Given the description of an element on the screen output the (x, y) to click on. 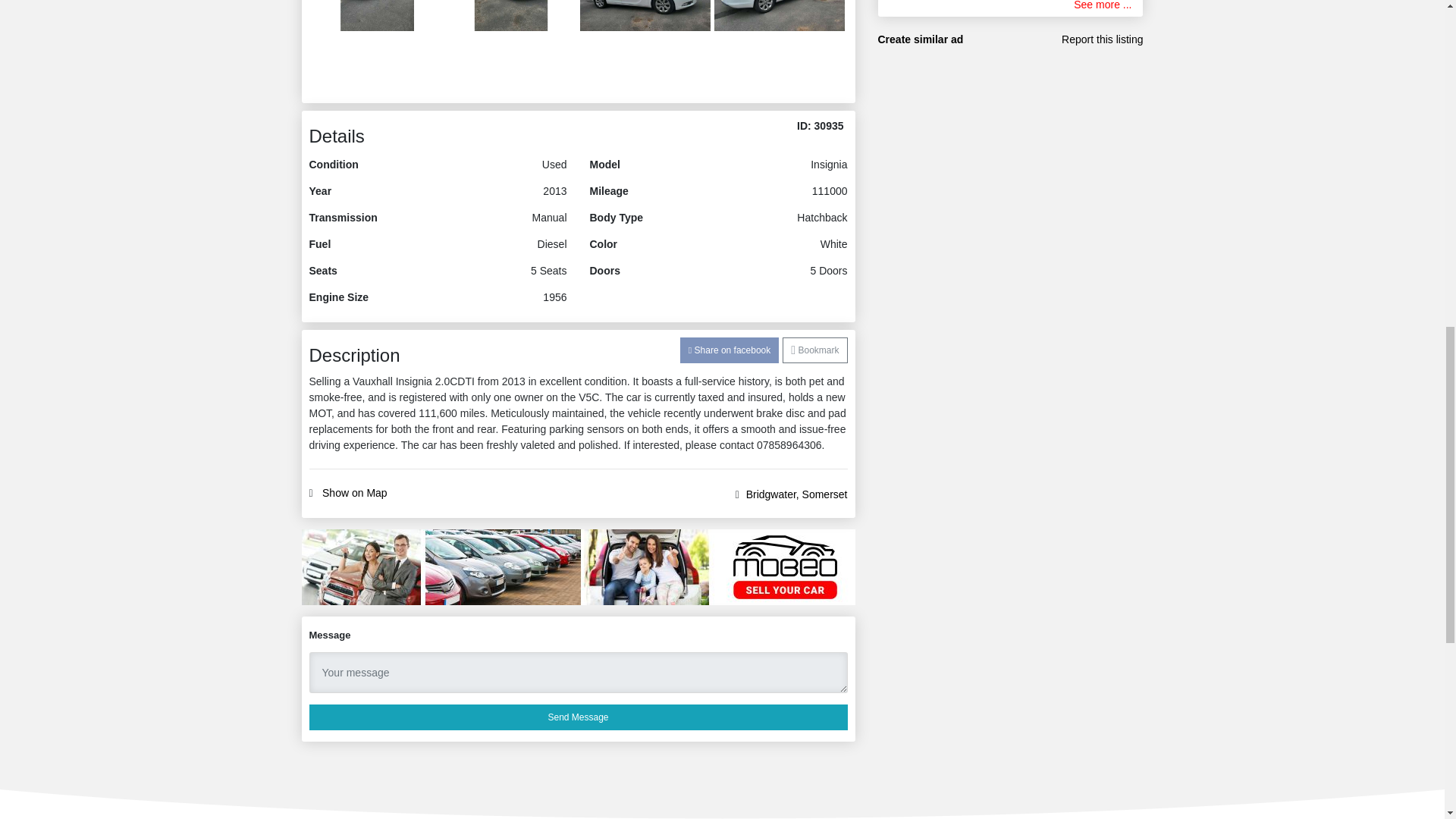
Create similar ad (920, 39)
Show on Map (354, 493)
Bookmark (815, 350)
See more ... (1102, 6)
Bridgwater, Somerset (796, 494)
Share on facebook (728, 350)
Report this listing (1101, 39)
Send Message (577, 717)
